Given the description of an element on the screen output the (x, y) to click on. 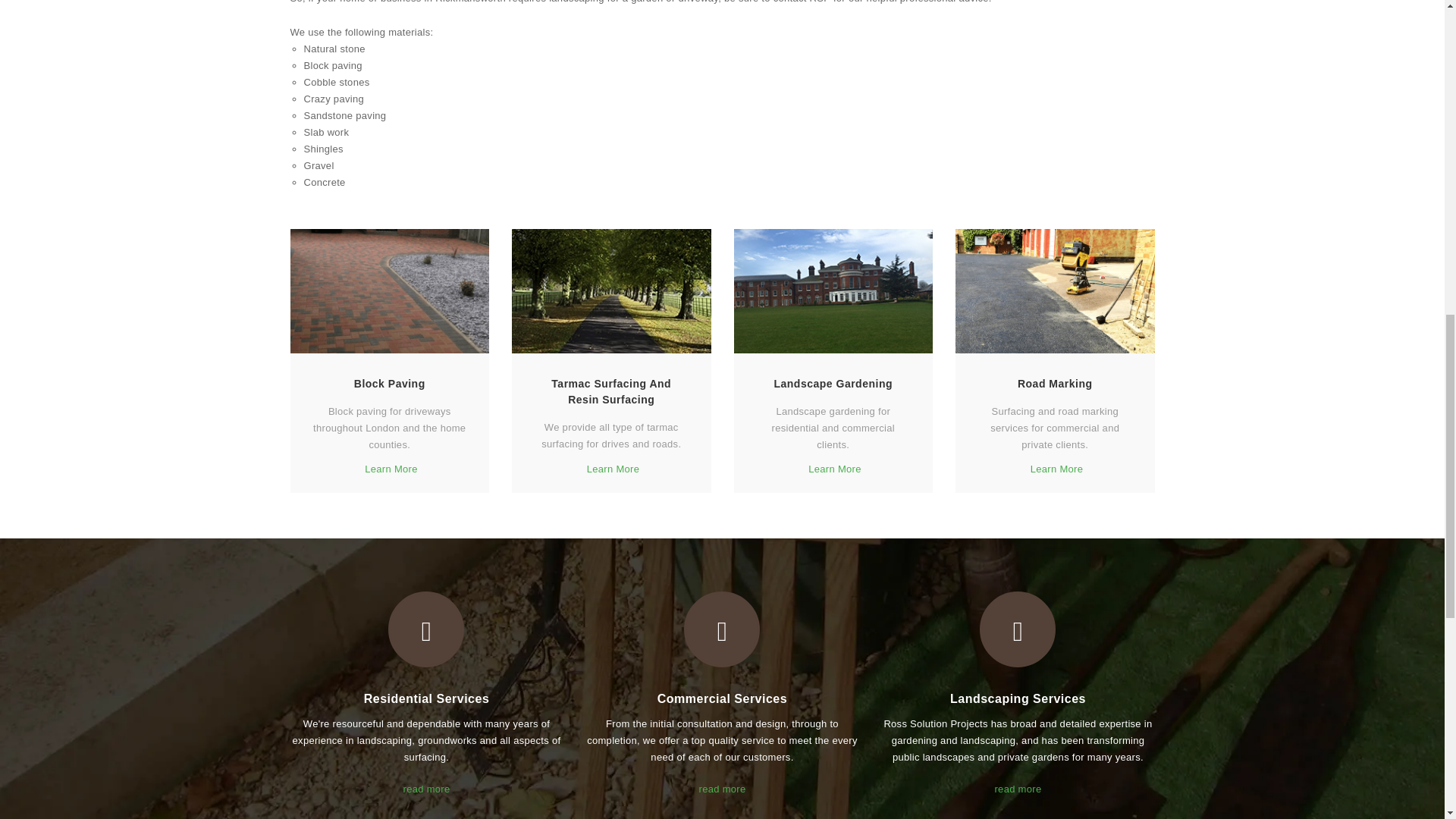
Tarmac surfacing solutions by Ross Projects Solutions (611, 290)
Asphalt Services (1054, 290)
Block paving solutions by Ross Project Solutions (389, 290)
